Given the description of an element on the screen output the (x, y) to click on. 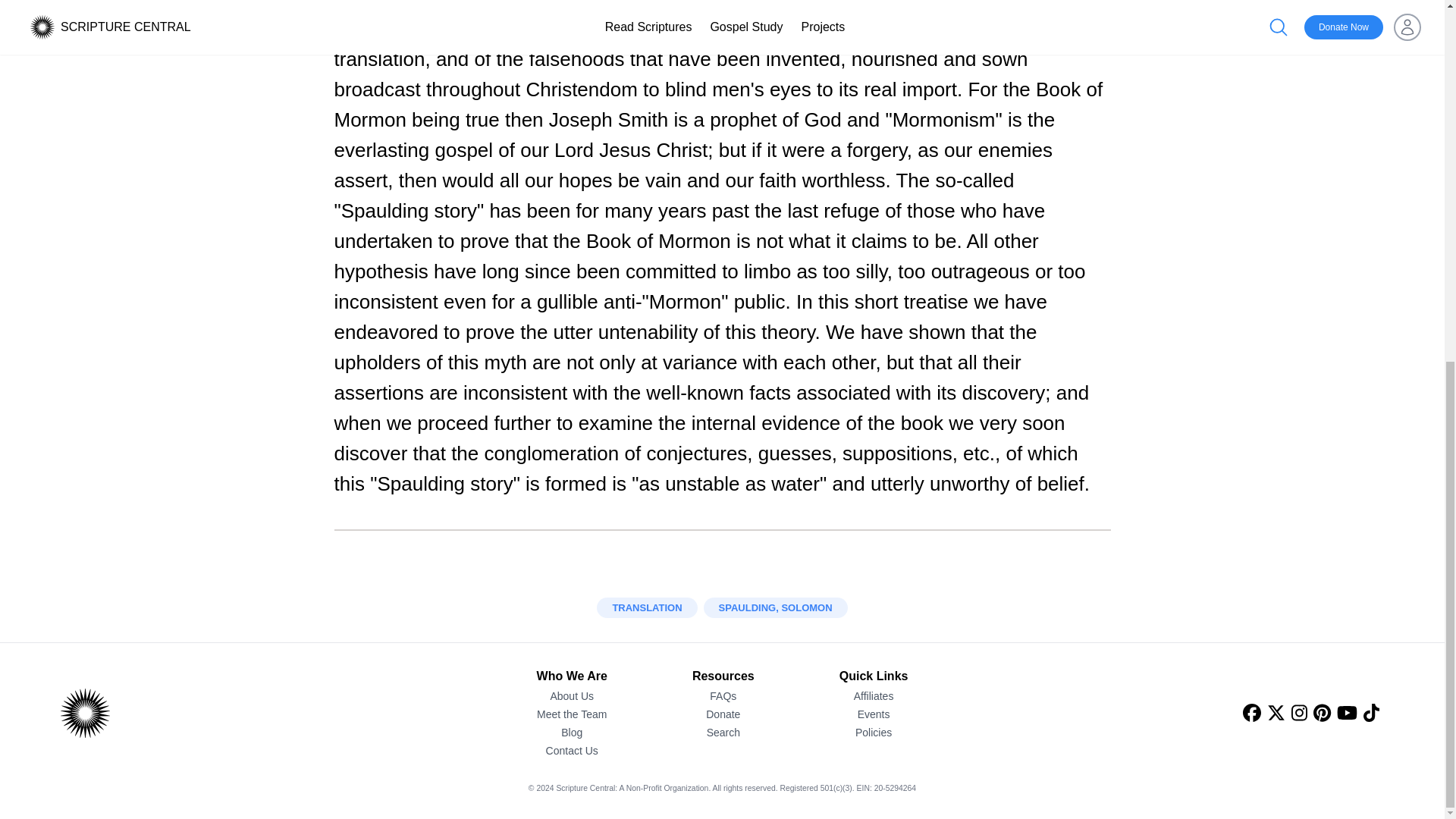
Meet the Team (572, 713)
Policies (873, 732)
Contact Us (572, 750)
Blog (571, 732)
Affiliates (873, 695)
Search (722, 732)
About Us (572, 695)
FAQs (723, 695)
Donate (722, 713)
Events (873, 713)
